Given the description of an element on the screen output the (x, y) to click on. 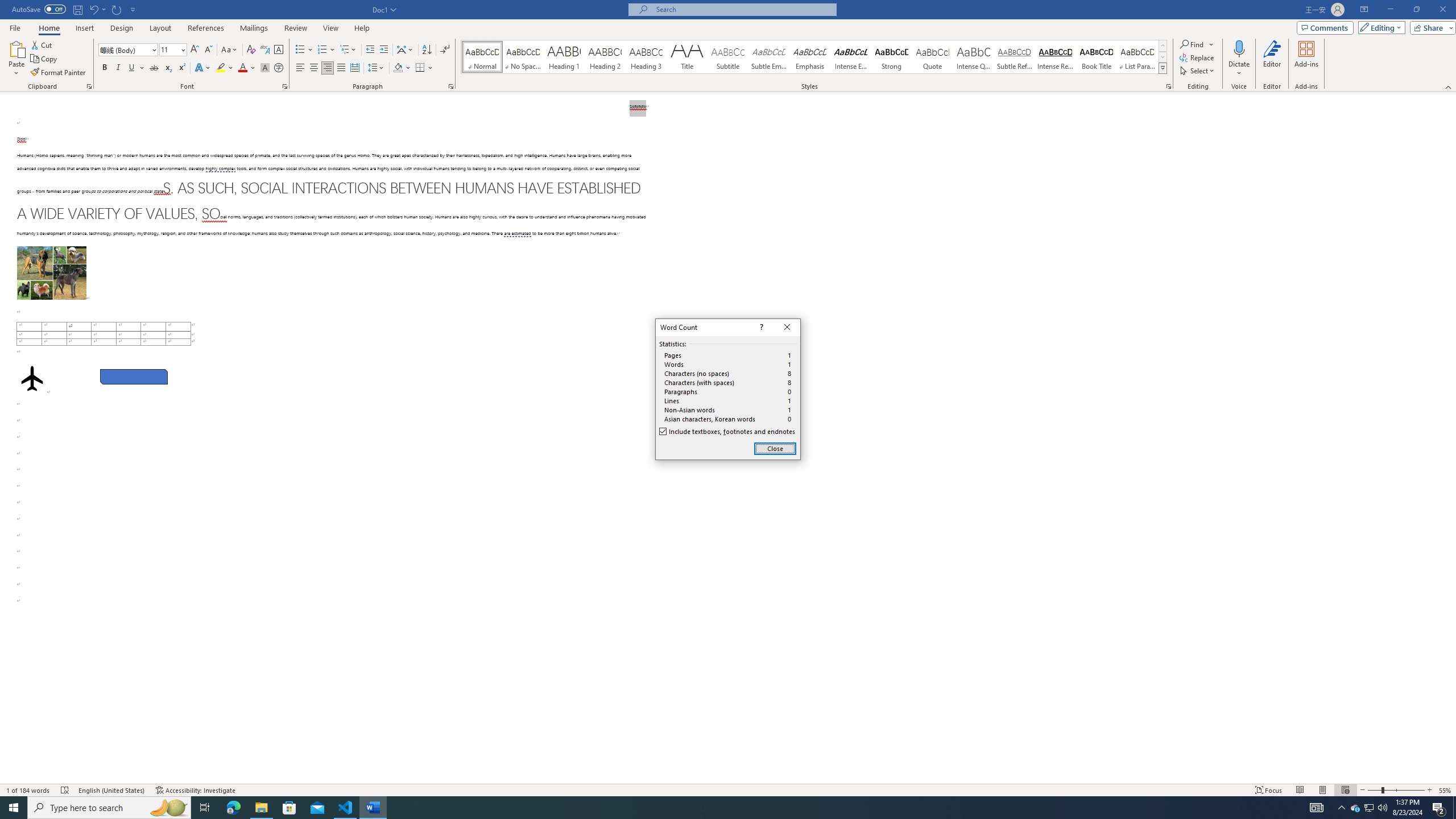
Zoom 55% (1445, 790)
Airplane with solid fill (31, 378)
Intense Quote (973, 56)
